Given the description of an element on the screen output the (x, y) to click on. 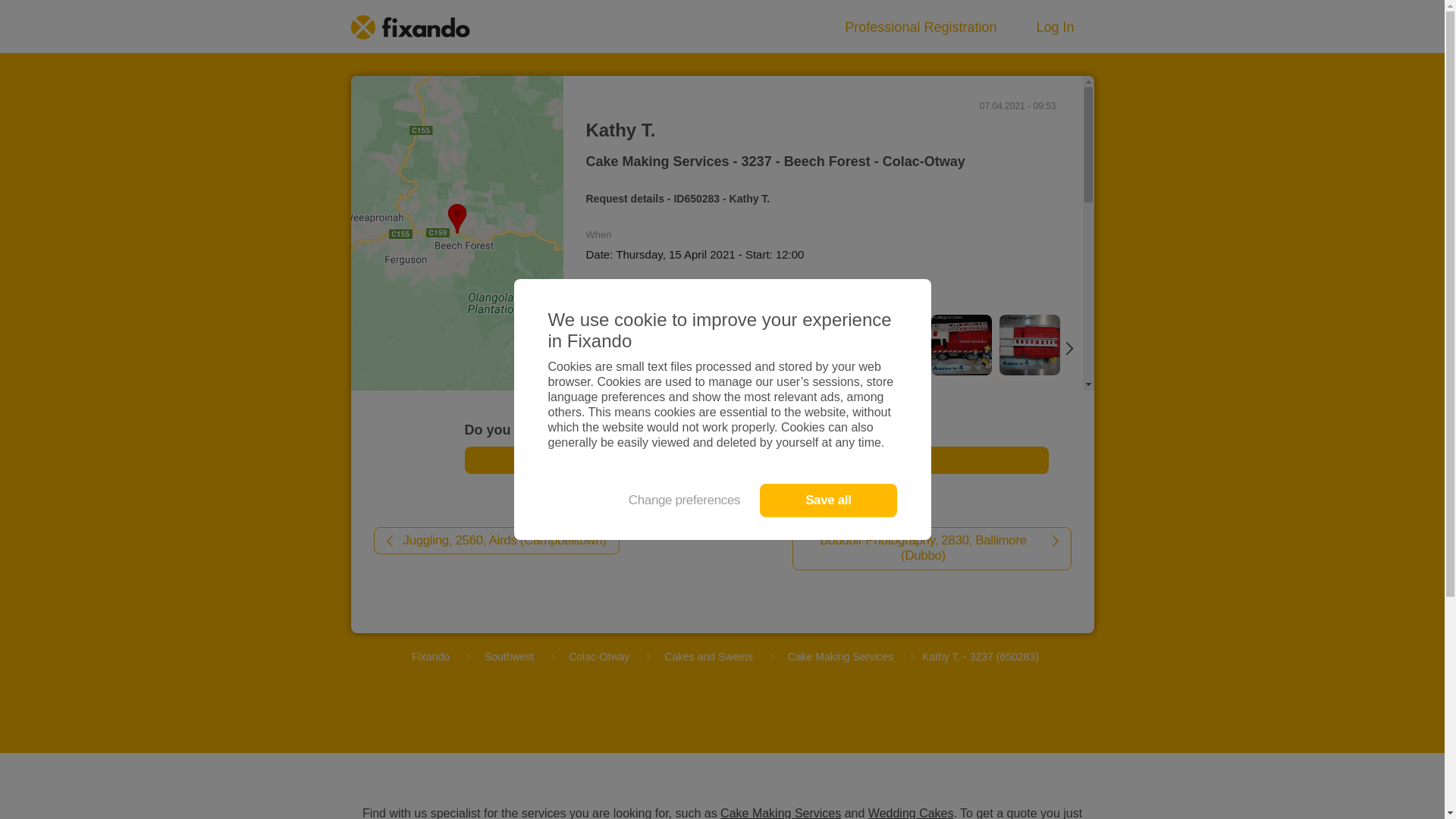
Juggling, 2560, Airds (Campbelltown) Element type: text (495, 540)
Boudoir Photography, 2830, Ballimore (Dubbo) Element type: text (930, 548)
Professional Registration Element type: text (920, 27)
Change preferences Element type: text (684, 500)
Get a quote Element type: text (756, 459)
Fixando Element type: text (430, 656)
Cake Making Services Element type: text (840, 656)
Save all Element type: text (827, 500)
Log In Element type: text (1054, 27)
Cakes and Sweets Element type: text (708, 656)
Colac-Otway Element type: text (598, 656)
Southwest Element type: text (508, 656)
